Given the description of an element on the screen output the (x, y) to click on. 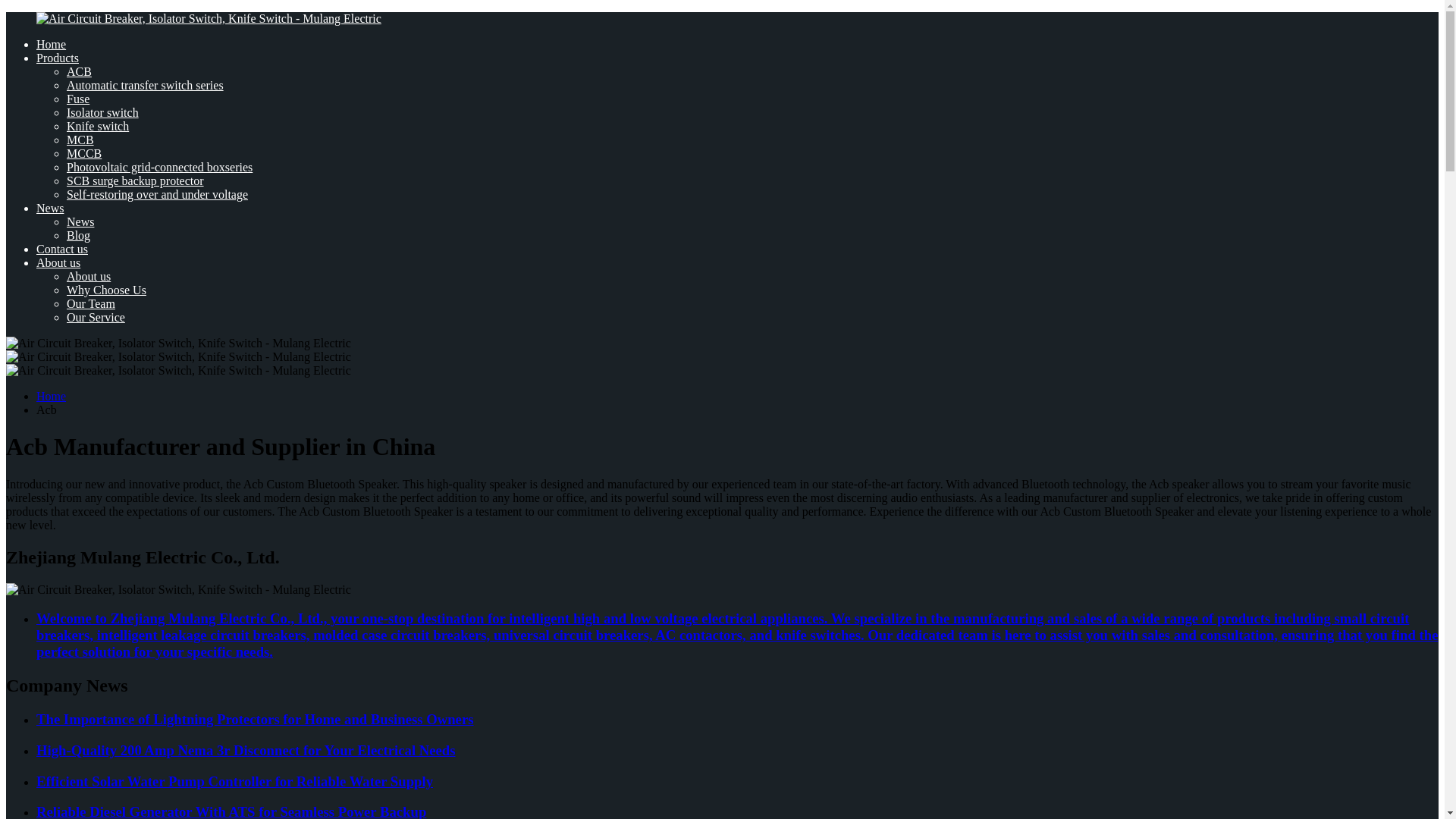
Home (50, 395)
Home (50, 43)
Why Choose Us (106, 289)
Isolator switch (102, 112)
Automatic transfer switch series (145, 84)
Fuse (77, 98)
MCB (80, 139)
Our Service (95, 317)
Photovoltaic grid-connected boxseries (158, 166)
MCCB (83, 153)
ACB (78, 71)
About us (58, 262)
SCB surge backup protector (134, 180)
Our Team (90, 303)
About us (88, 276)
